Given the description of an element on the screen output the (x, y) to click on. 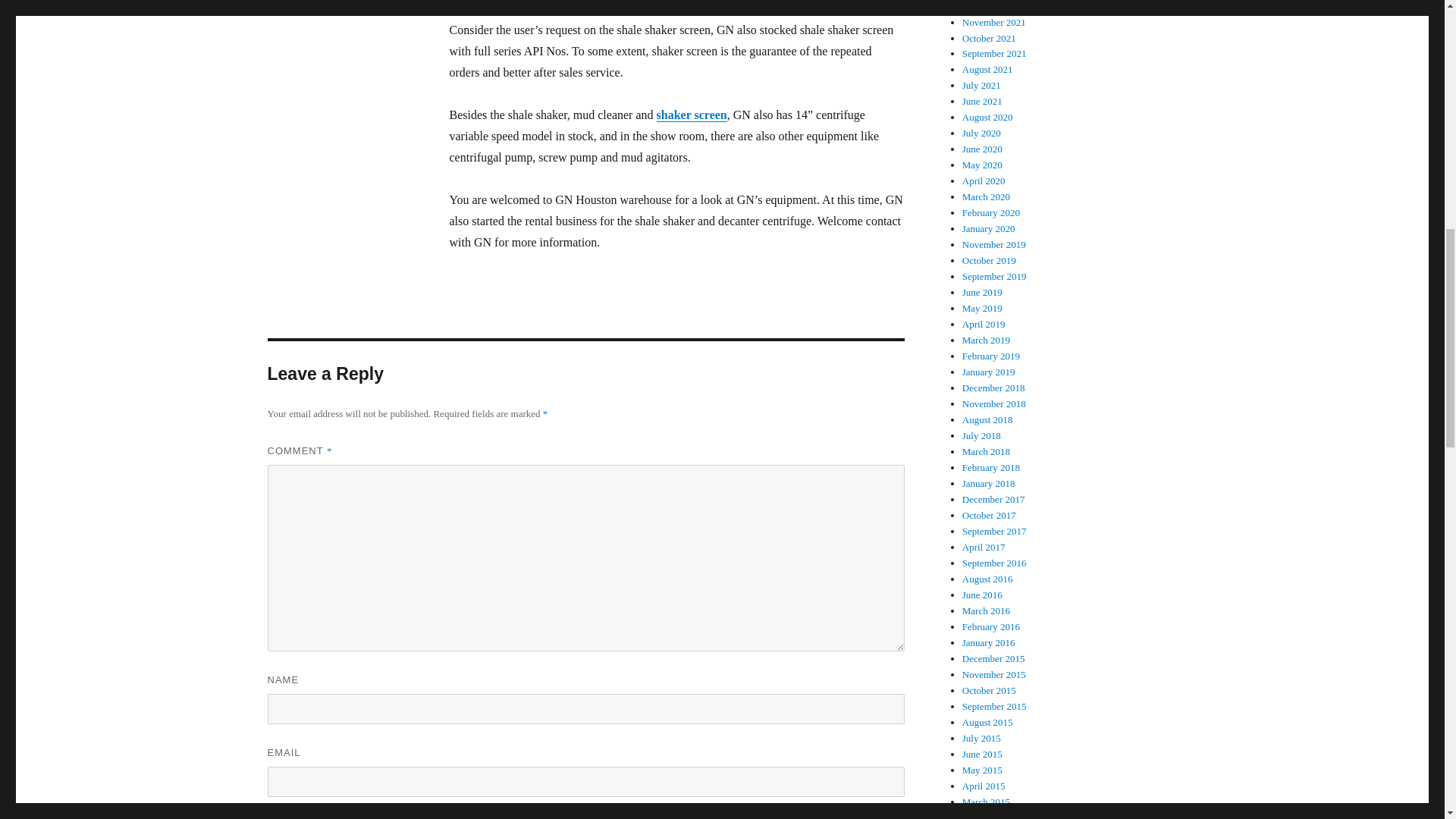
shaker screen (691, 114)
Shaker Screen (691, 114)
